Given the description of an element on the screen output the (x, y) to click on. 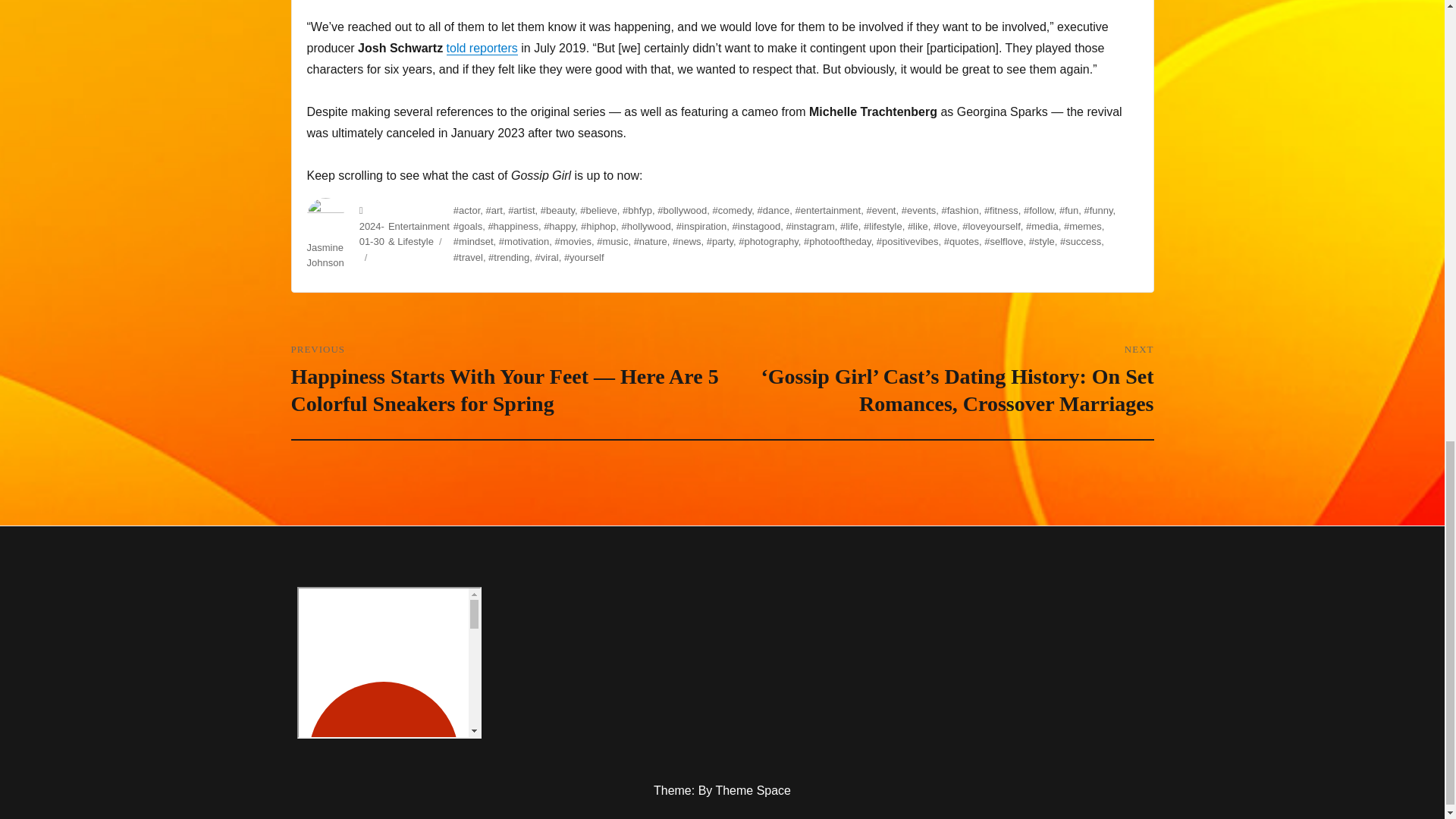
told reporters (482, 47)
Jasmine Johnson (324, 255)
2024-01-30 (371, 234)
amazing (389, 662)
